Given the description of an element on the screen output the (x, y) to click on. 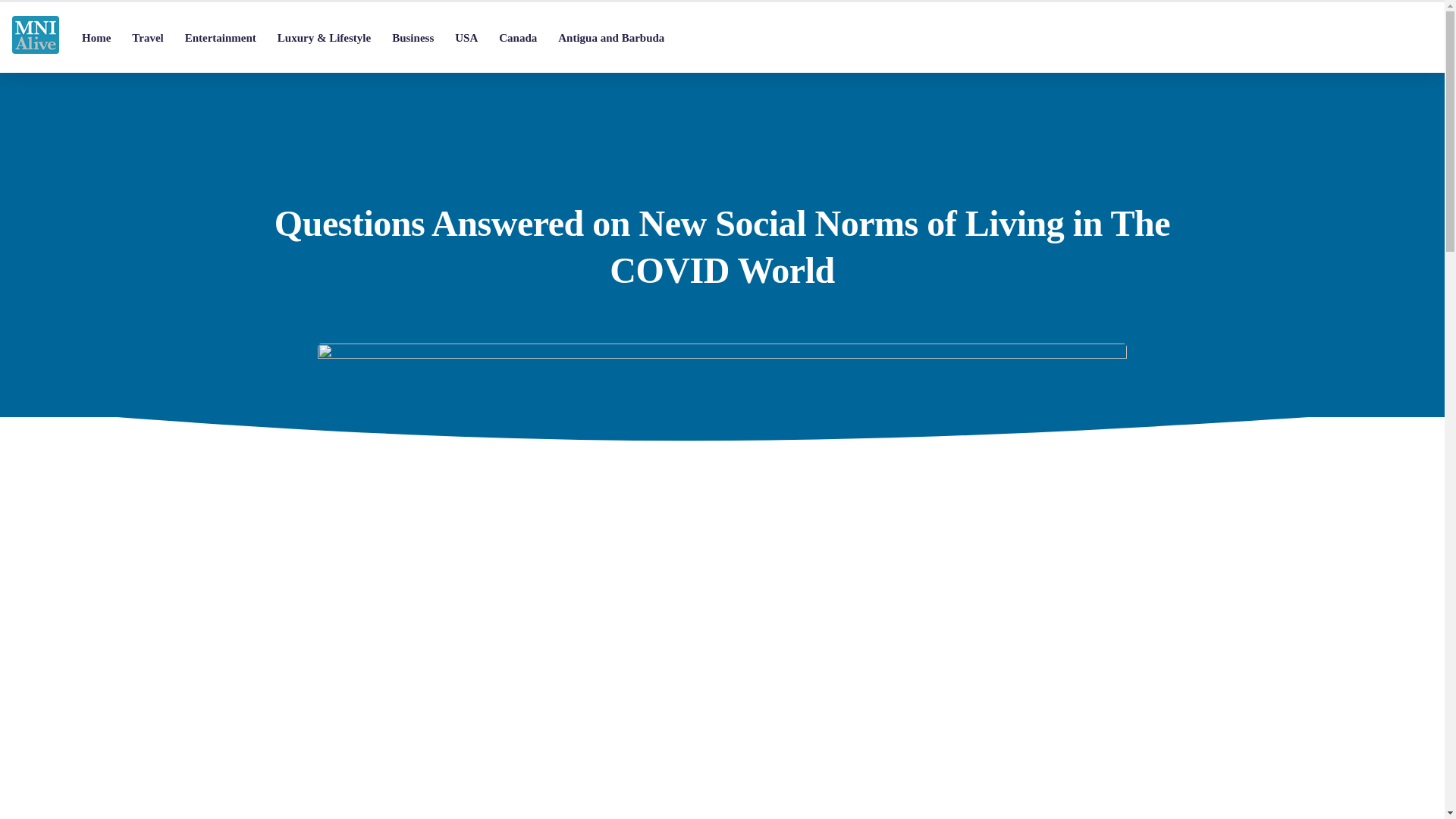
USA (465, 37)
Canada (517, 37)
Business (412, 37)
Antigua and Barbuda (611, 37)
Home (95, 37)
Travel (146, 37)
Entertainment (220, 37)
